Given the description of an element on the screen output the (x, y) to click on. 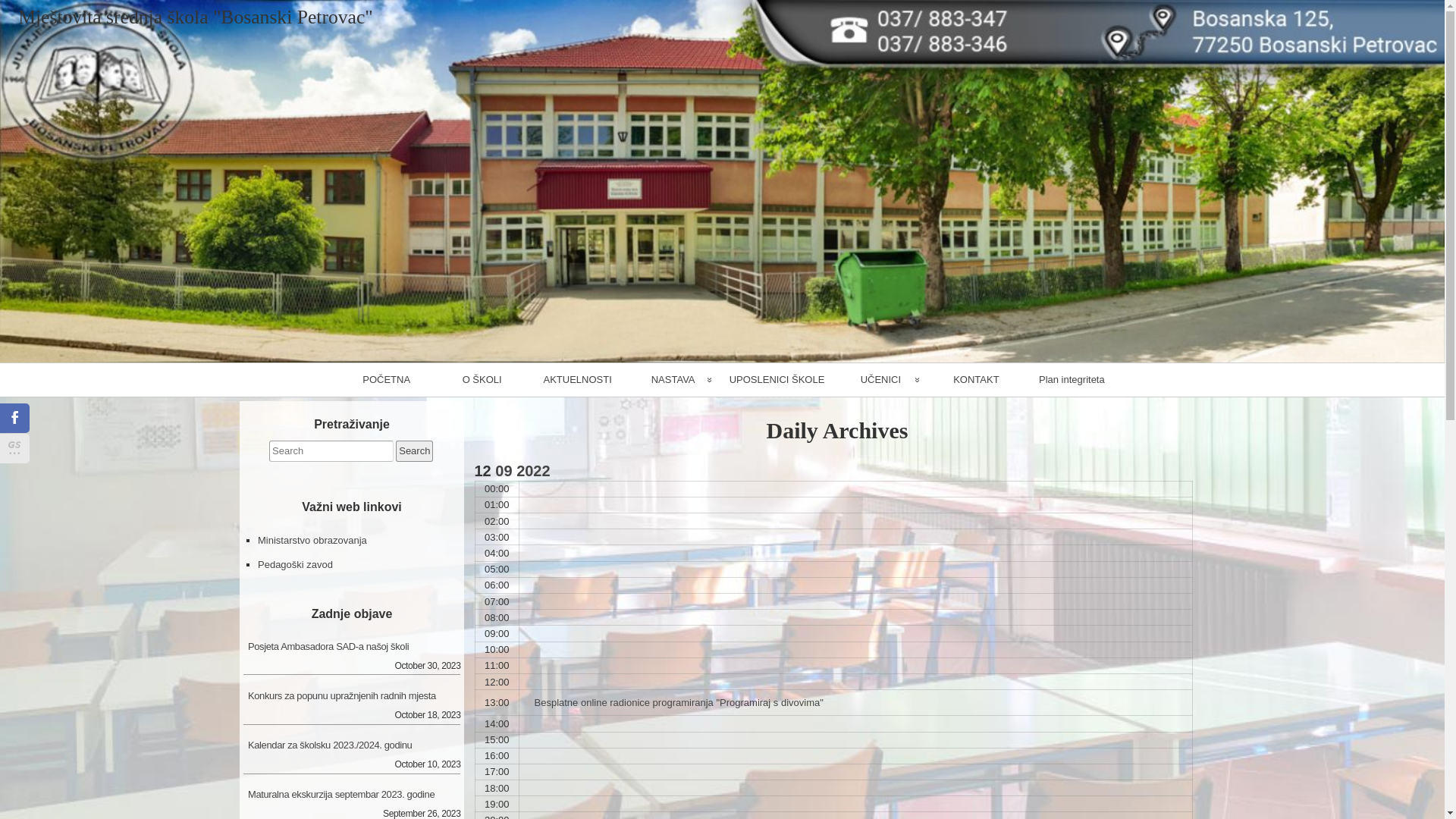
KONTAKT Element type: text (975, 379)
Ministarstvo obrazovanja Element type: text (312, 540)
Plan integriteta Element type: text (1071, 379)
Search Element type: text (414, 450)
2022 Element type: text (533, 470)
NASTAVA Element type: text (673, 379)
Maturalna ekskurzija septembar 2023. godine Element type: text (351, 792)
AKTUELNOSTI Element type: text (577, 379)
Smjerovi Element type: text (673, 414)
must not contain html tags Element type: hover (331, 450)
09 Element type: text (503, 470)
